Given the description of an element on the screen output the (x, y) to click on. 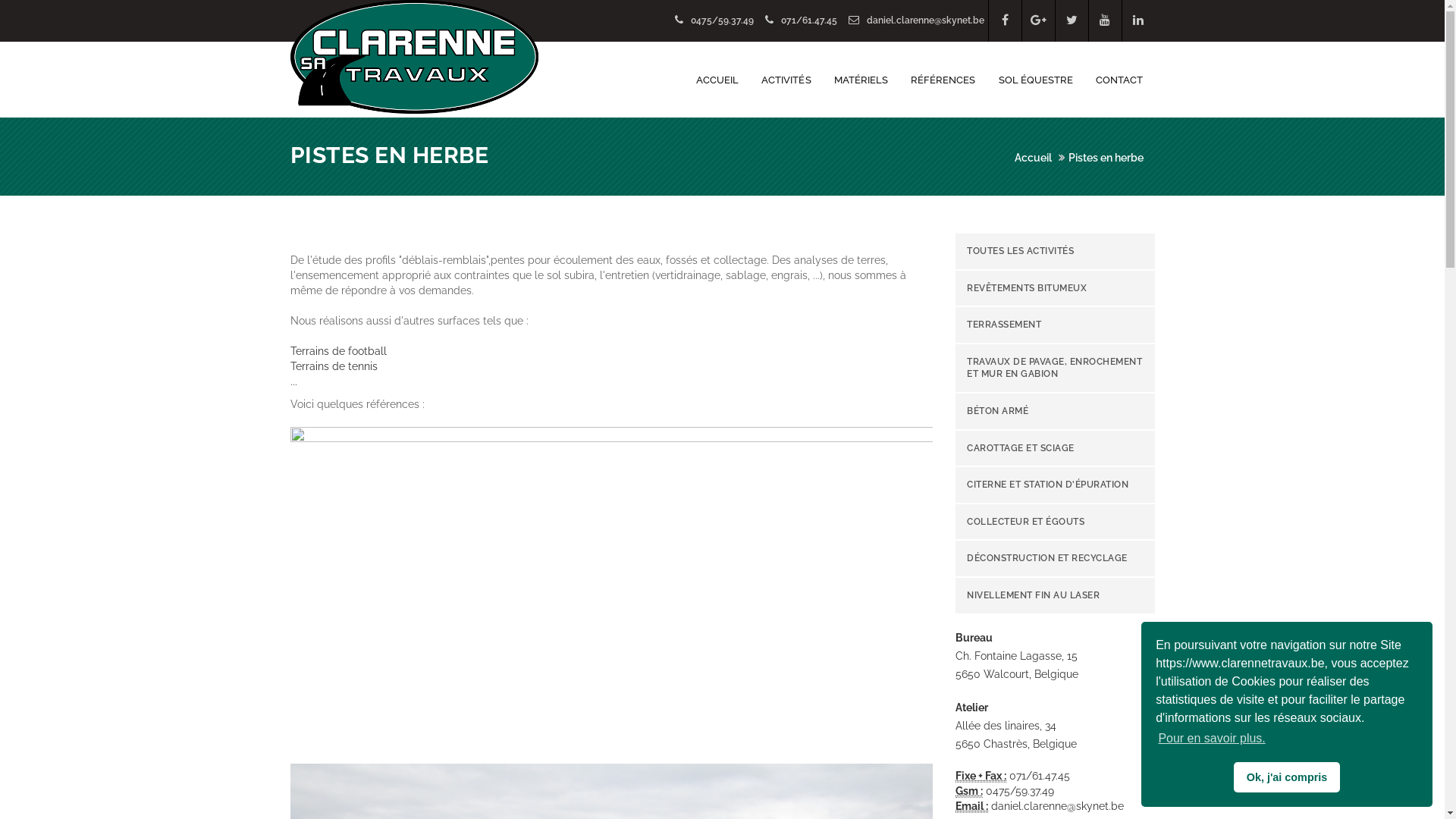
ACCUEIL Element type: text (716, 79)
Ok, j'ai compris Element type: text (1286, 777)
daniel.clarenne@skynet.be Element type: text (917, 20)
0475/59.37.49 Element type: text (715, 20)
CONTACT Element type: text (1119, 79)
Accueil Element type: text (1032, 157)
TERRASSEMENT Element type: text (1054, 324)
TRAVAUX DE PAVAGE, ENROCHEMENT ET MUR EN GABION Element type: text (1054, 368)
NIVELLEMENT FIN AU LASER Element type: text (1054, 595)
CAROTTAGE ET SCIAGE Element type: text (1054, 448)
Pistes en herbe Element type: text (1104, 157)
Pour en savoir plus. Element type: text (1211, 738)
071/61.47.45 Element type: text (802, 20)
